Given the description of an element on the screen output the (x, y) to click on. 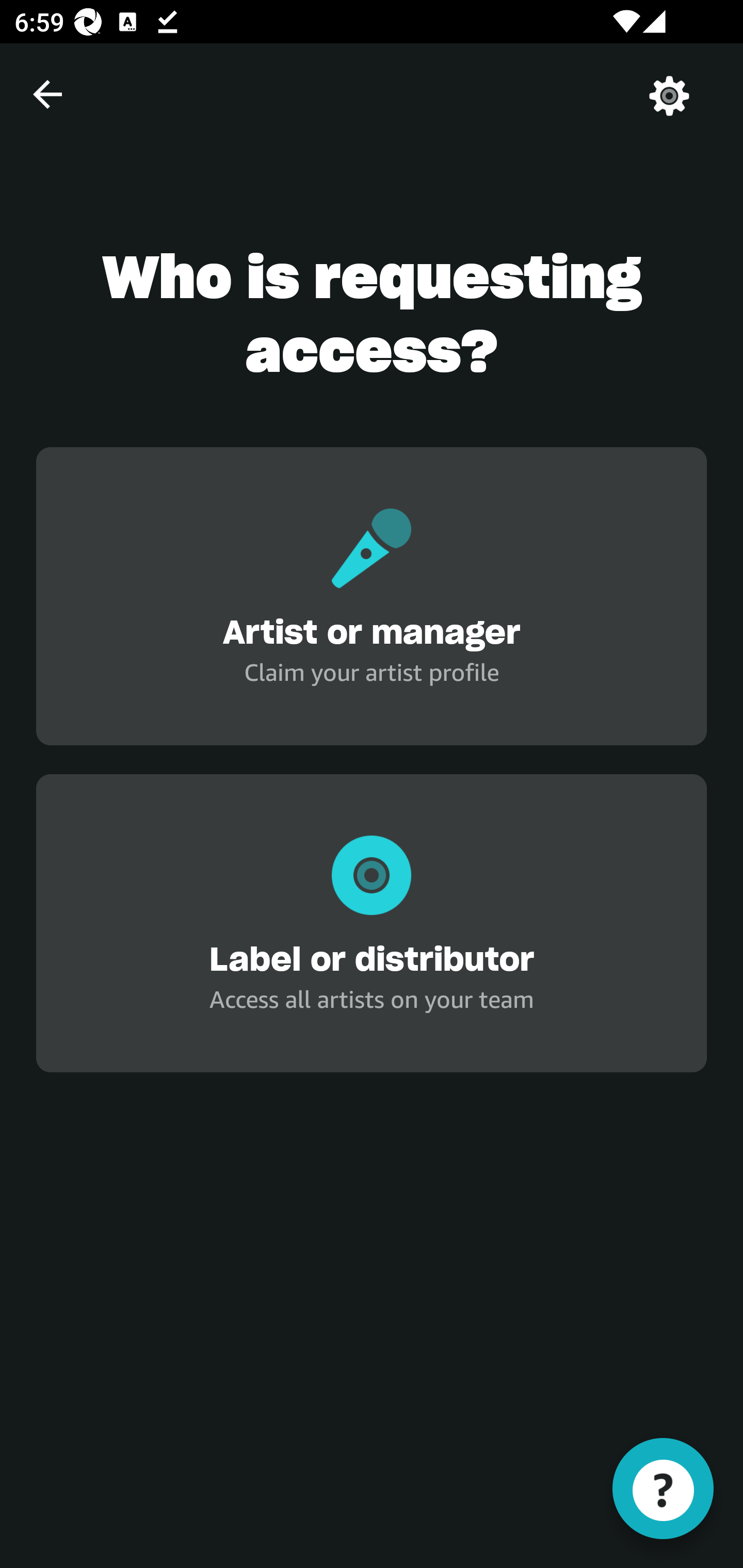
ArtistSelect, back (47, 93)
